Given the description of an element on the screen output the (x, y) to click on. 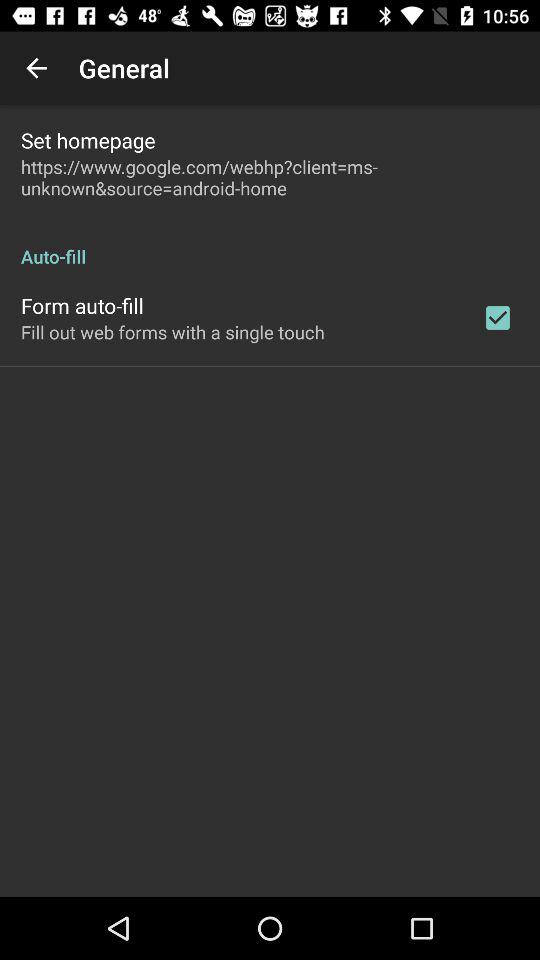
turn off the app above the auto-fill item (270, 177)
